Given the description of an element on the screen output the (x, y) to click on. 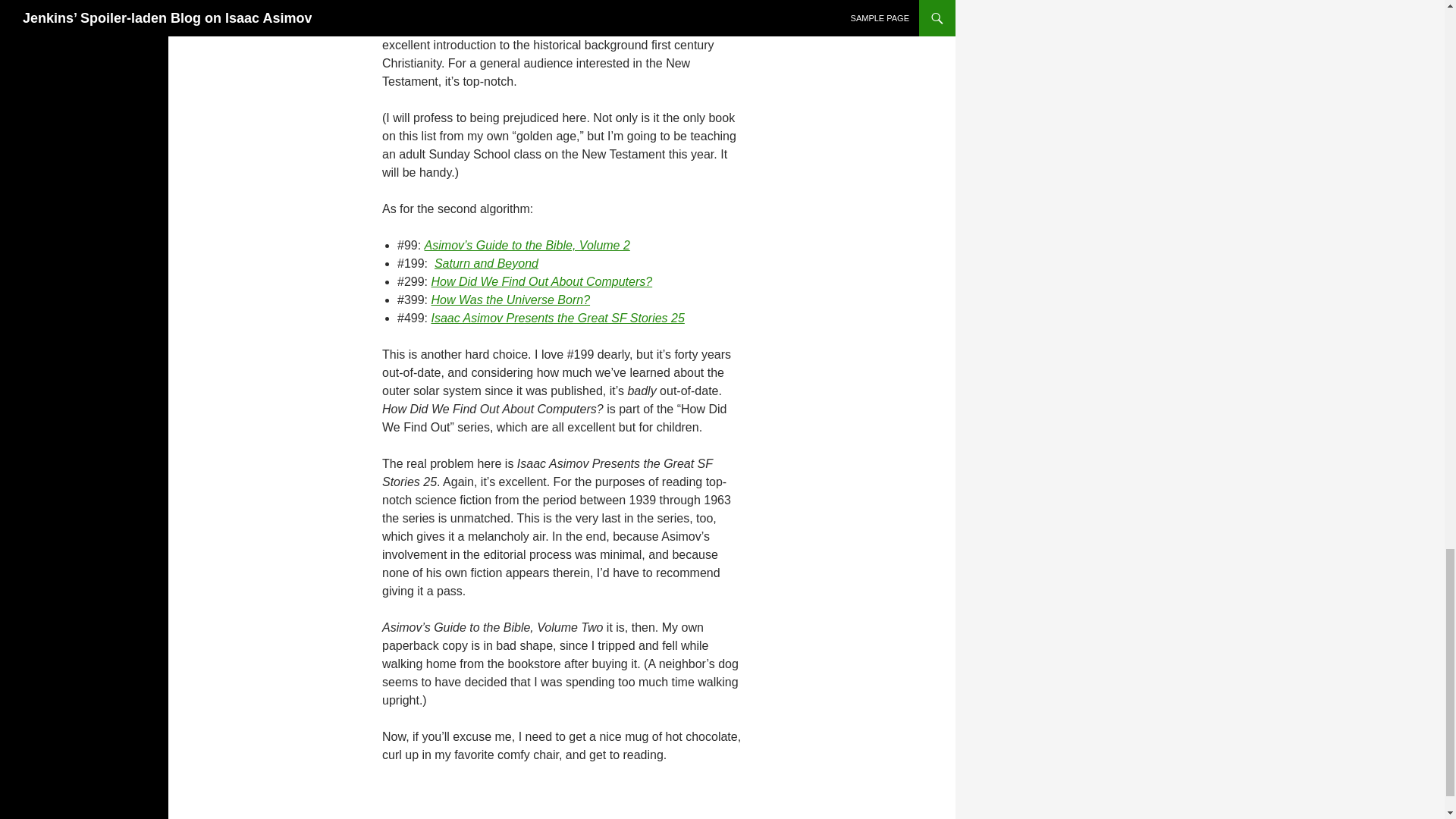
How Was the Universe Born? (509, 299)
Saturn and Beyond (485, 263)
How Did We Find Out About Computers? (541, 281)
Isaac Asimov Presents the Great SF Stories 25 (557, 318)
